Given the description of an element on the screen output the (x, y) to click on. 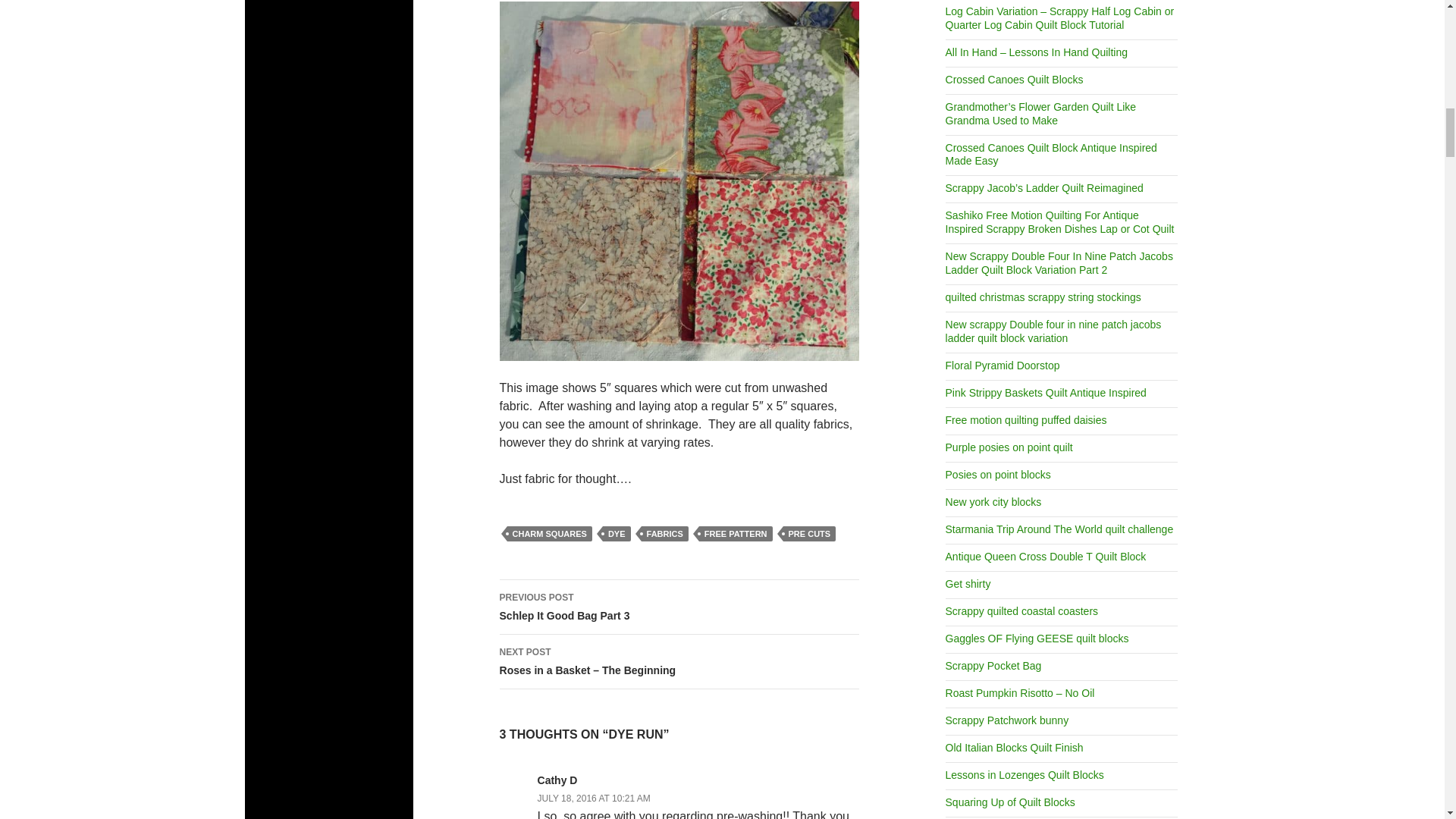
FABRICS (665, 533)
JULY 18, 2016 AT 10:21 AM (679, 606)
DYE (593, 798)
FREE PATTERN (616, 533)
PRE CUTS (735, 533)
CHARM SQUARES (809, 533)
